Given the description of an element on the screen output the (x, y) to click on. 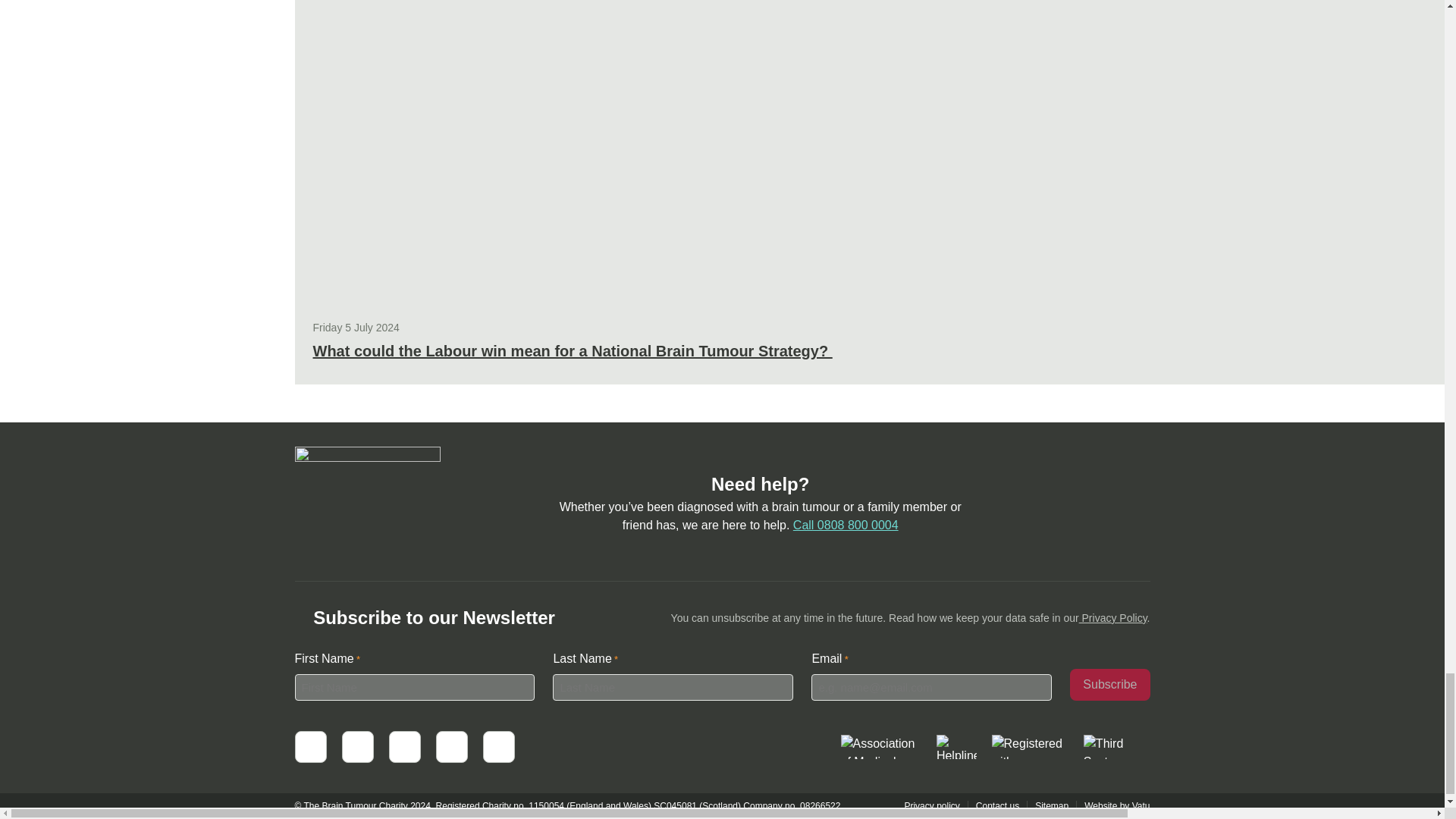
Tiktok (451, 746)
Facebook (310, 746)
YouTube (404, 746)
Twitter (356, 746)
Instagram (497, 746)
Subscribe (1110, 685)
